Given the description of an element on the screen output the (x, y) to click on. 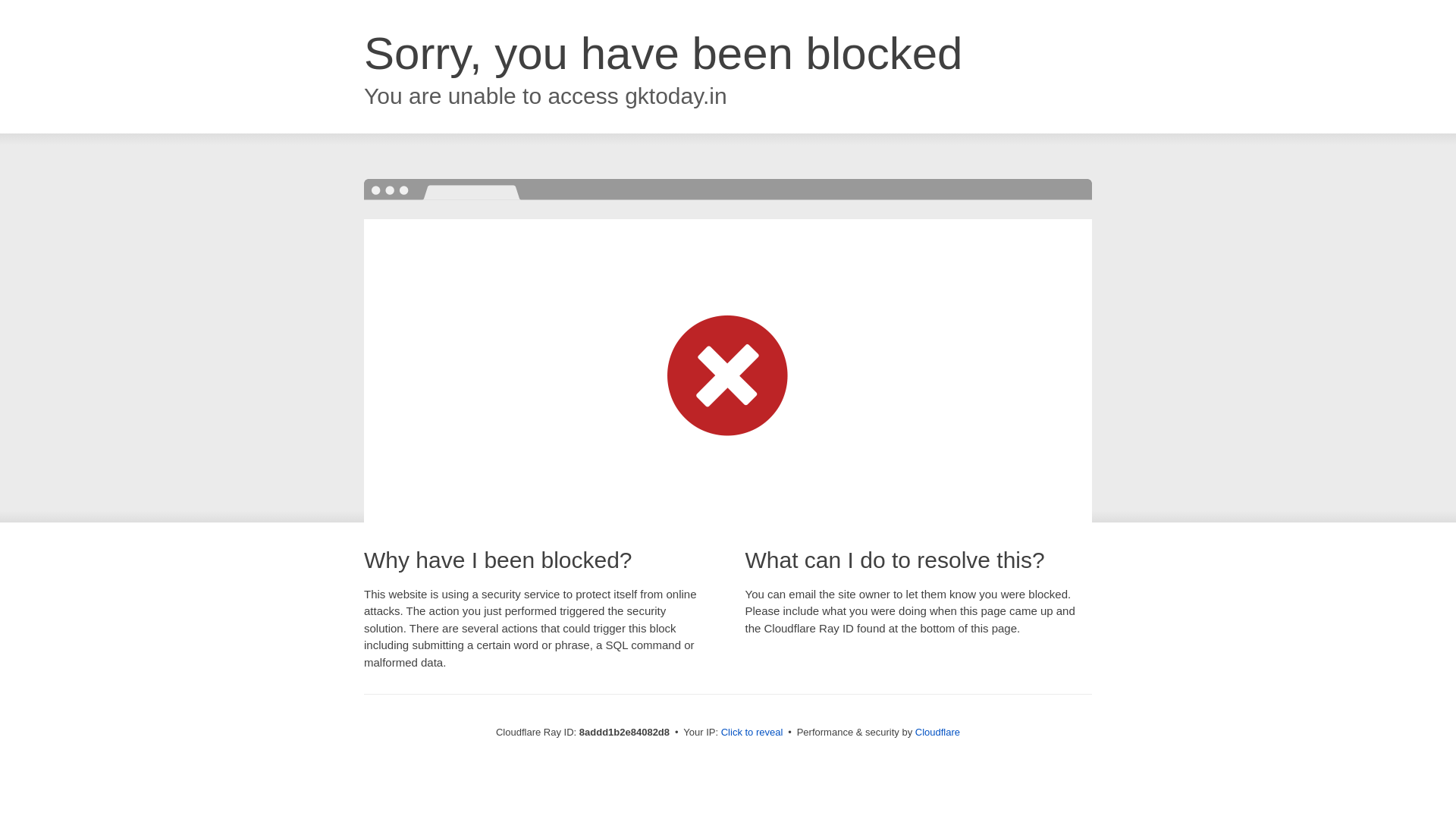
Click to reveal (751, 732)
Cloudflare (937, 731)
